Given the description of an element on the screen output the (x, y) to click on. 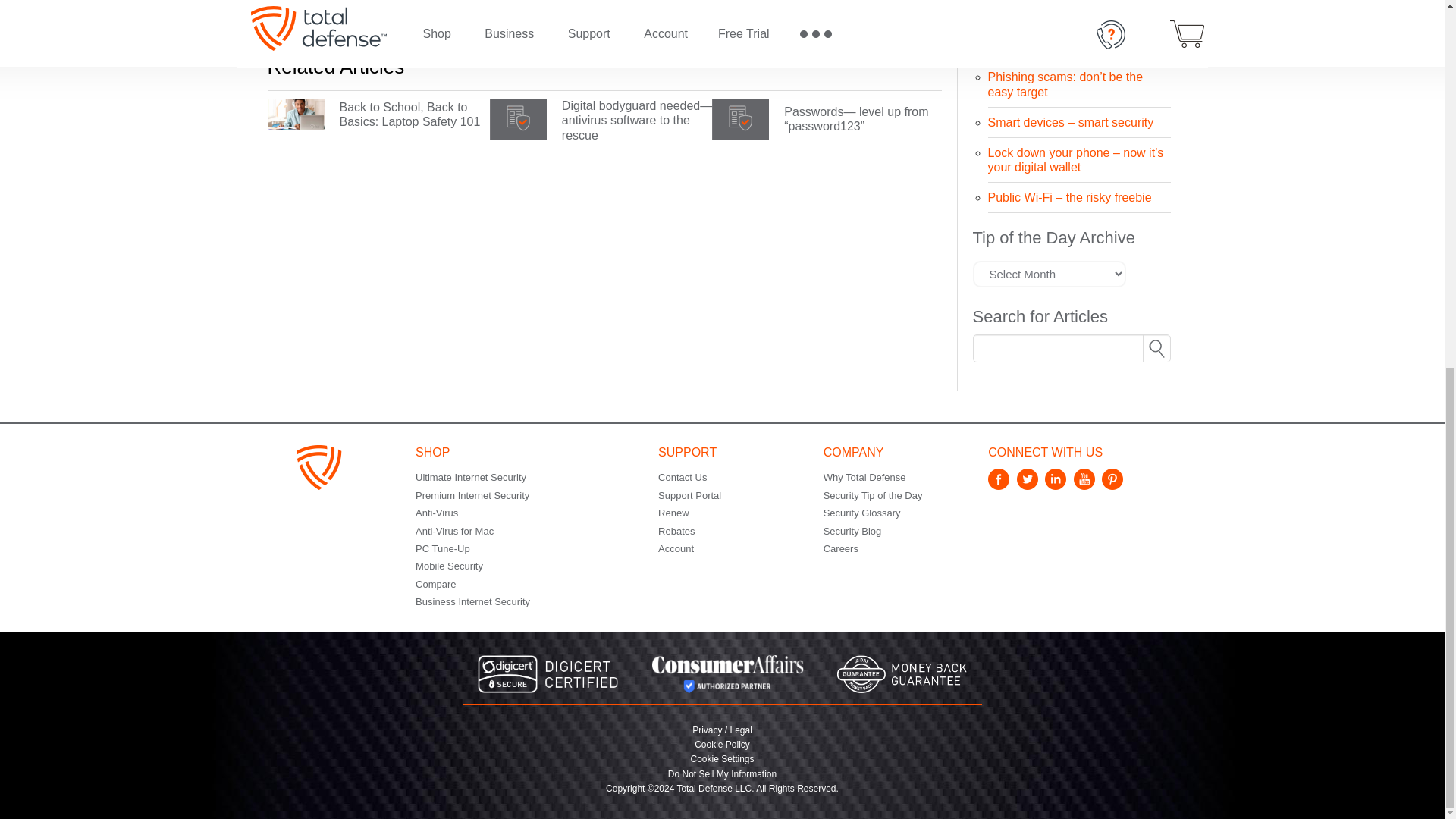
Pinterest (1114, 485)
Facebook (1000, 485)
YouTube (1086, 485)
Twitter (1029, 485)
LinkedIn (1057, 485)
